Given the description of an element on the screen output the (x, y) to click on. 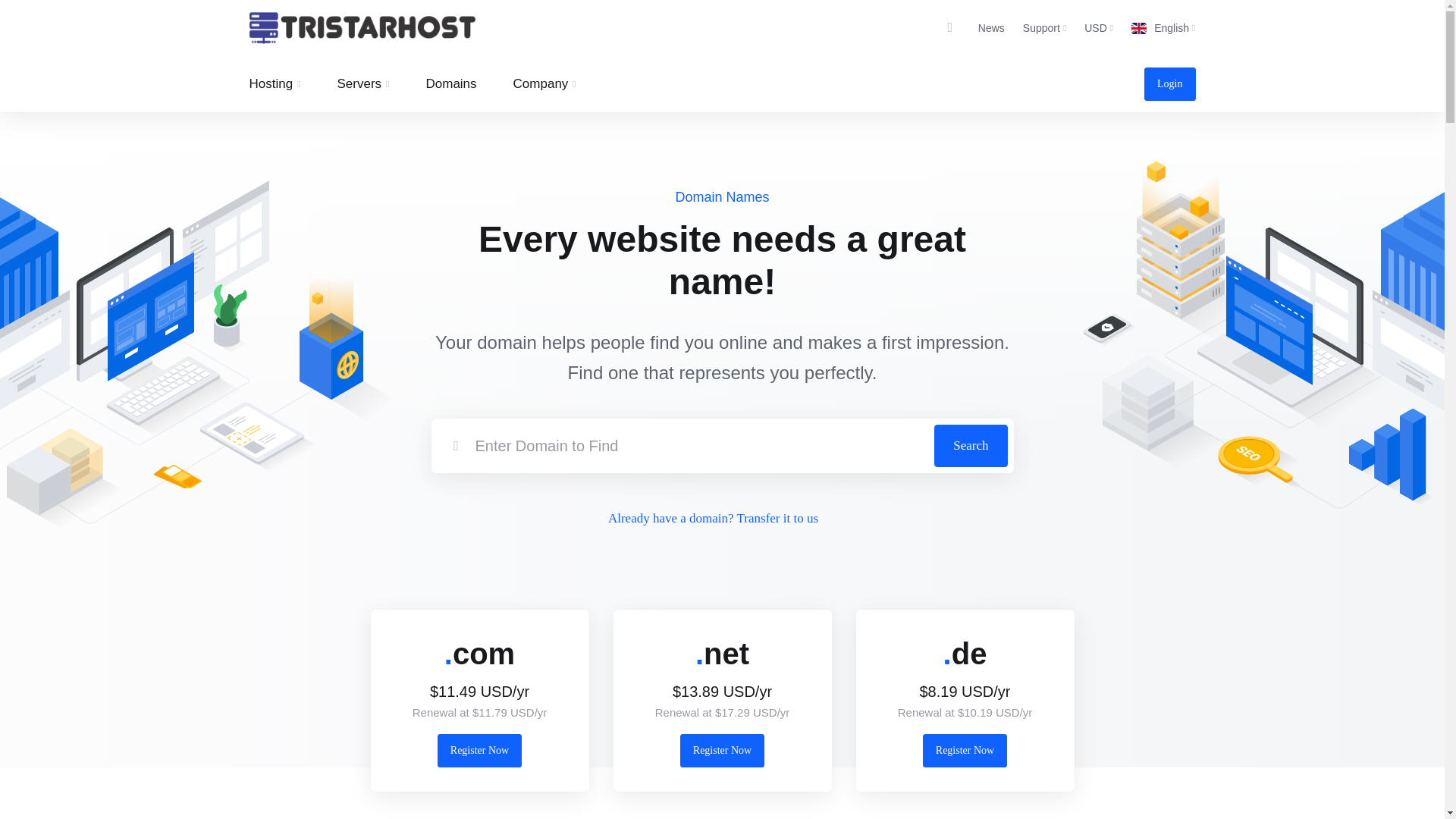
English (1163, 27)
Tristarhost (361, 28)
USD (1098, 27)
Hosting (274, 84)
Support (1043, 27)
News (991, 27)
